Given the description of an element on the screen output the (x, y) to click on. 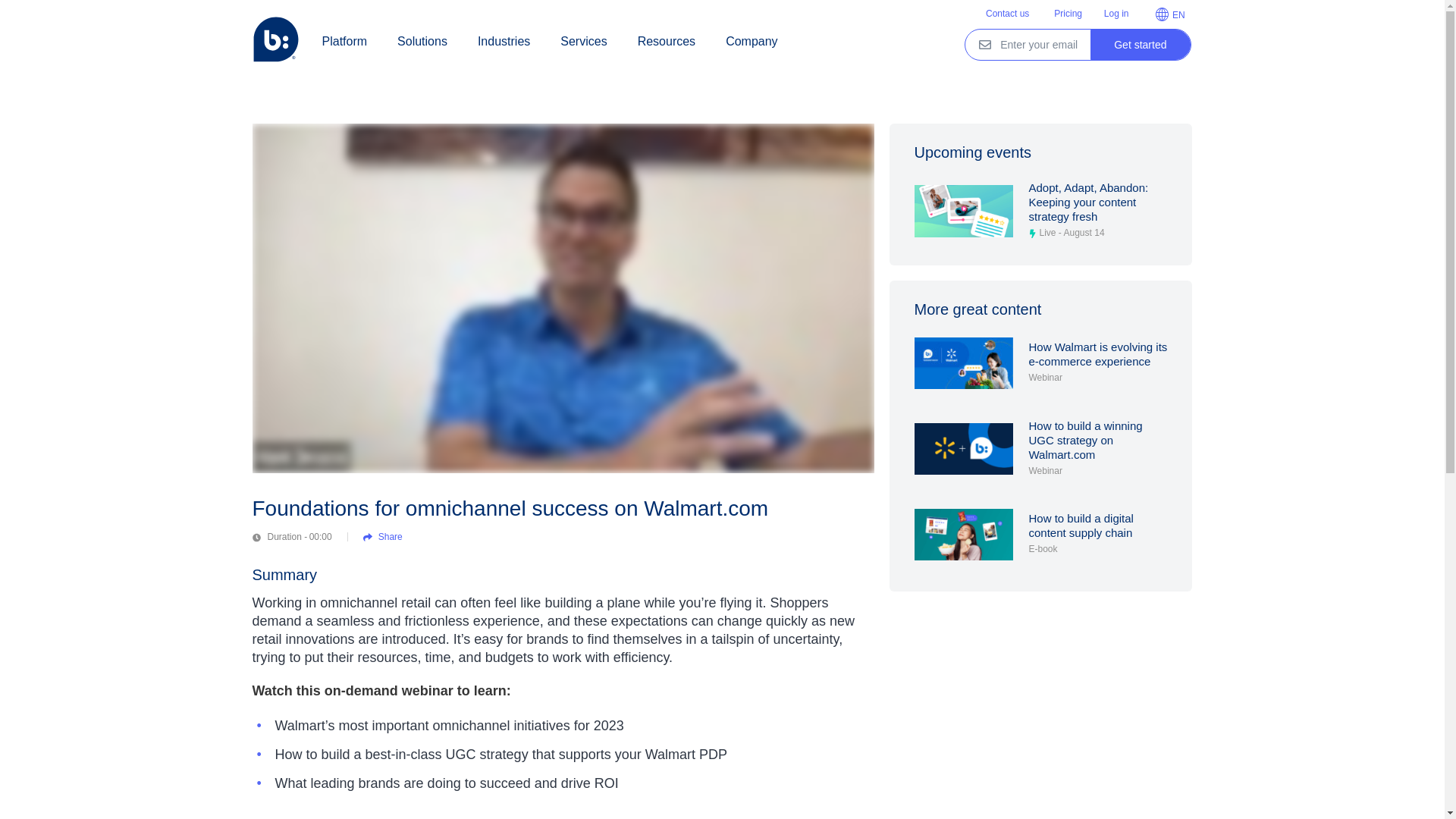
Solutions (421, 41)
Platform (343, 41)
